Given the description of an element on the screen output the (x, y) to click on. 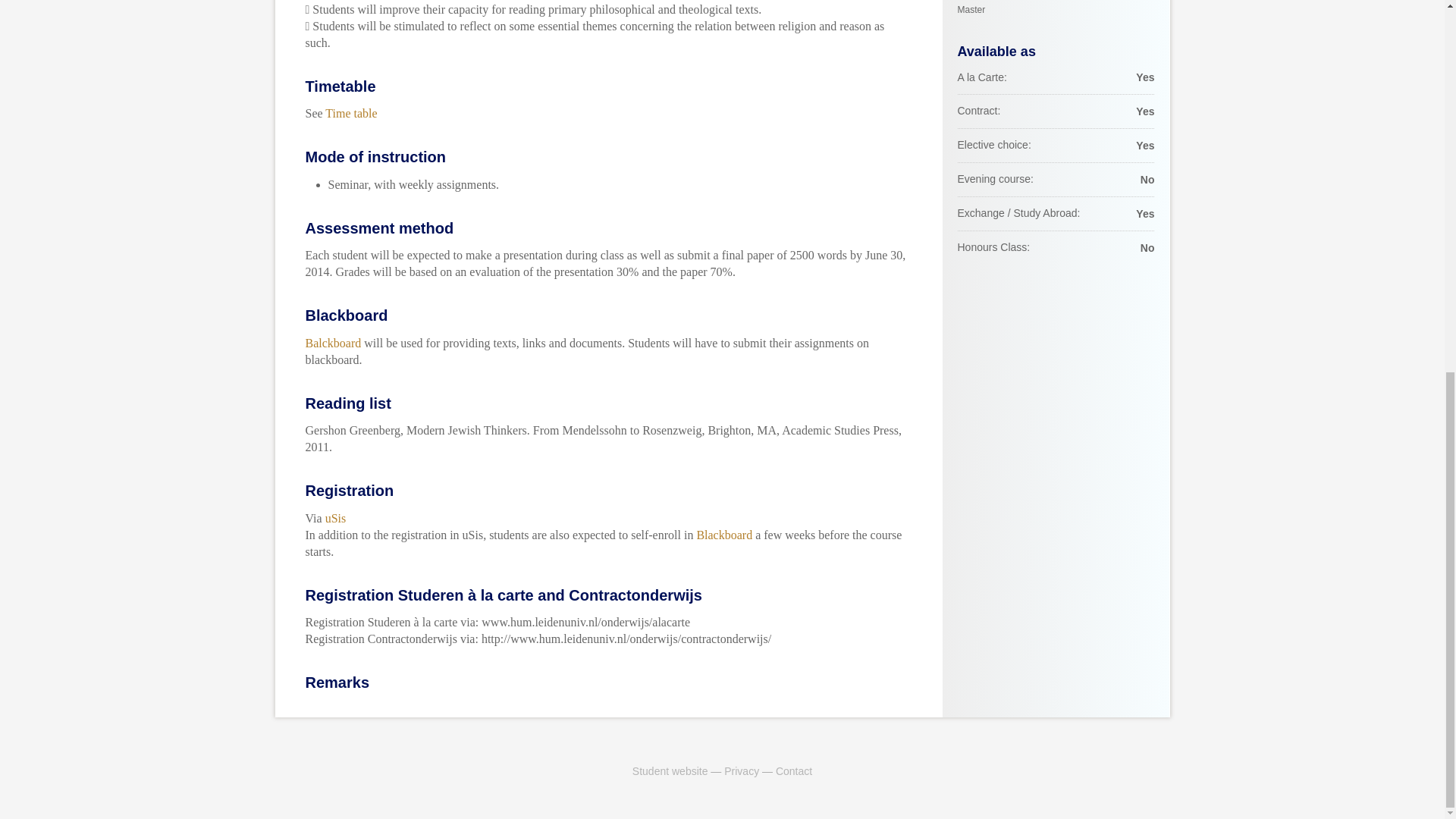
uSis (335, 517)
Time table (350, 113)
Balckboard (332, 341)
Contact (794, 770)
Student website (1055, 9)
Blackboard (669, 770)
Privacy (723, 534)
